Given the description of an element on the screen output the (x, y) to click on. 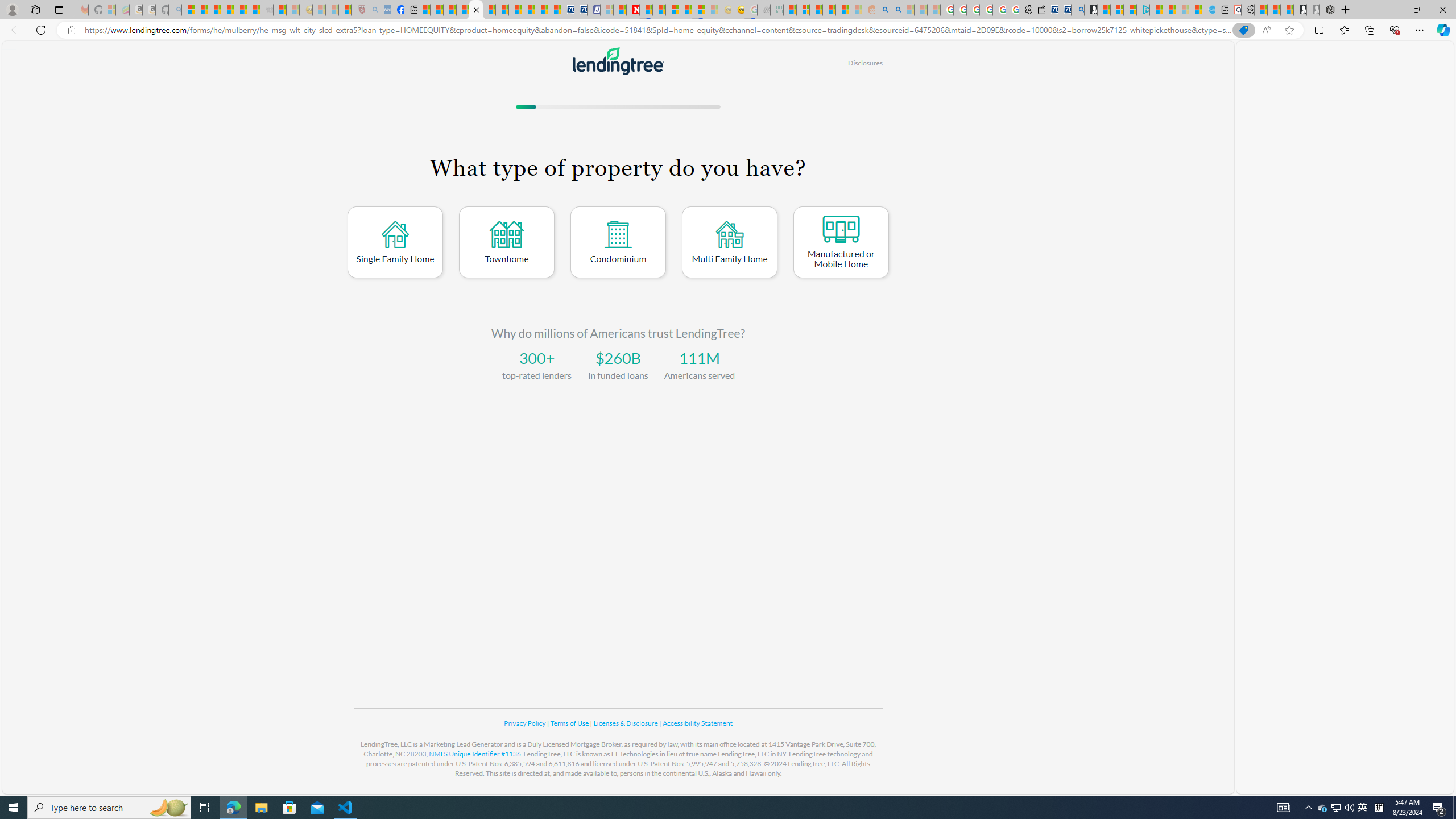
Latest Politics News & Archive | Newsweek.com (633, 9)
